Given the description of an element on the screen output the (x, y) to click on. 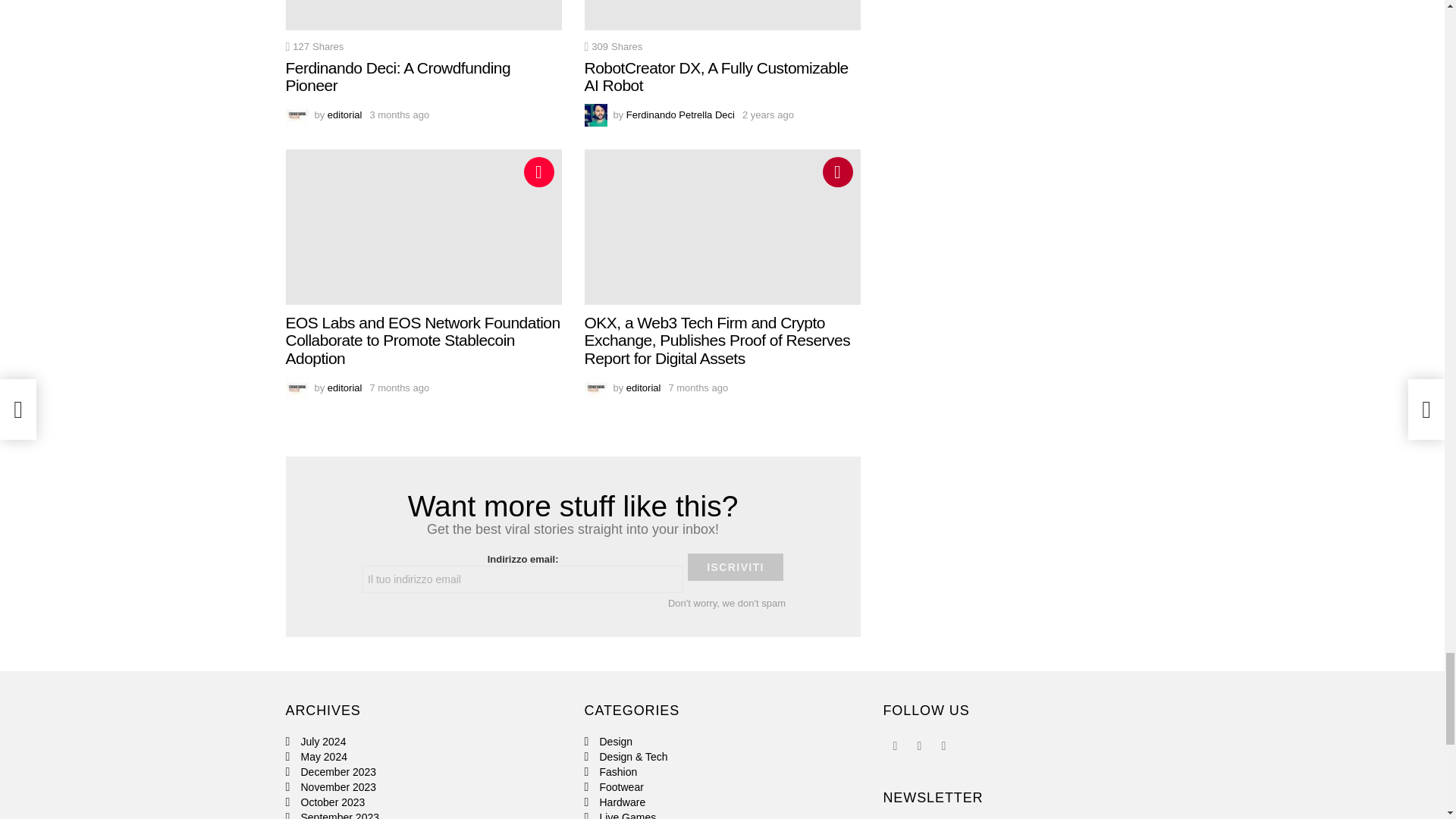
Iscriviti (735, 566)
